Given the description of an element on the screen output the (x, y) to click on. 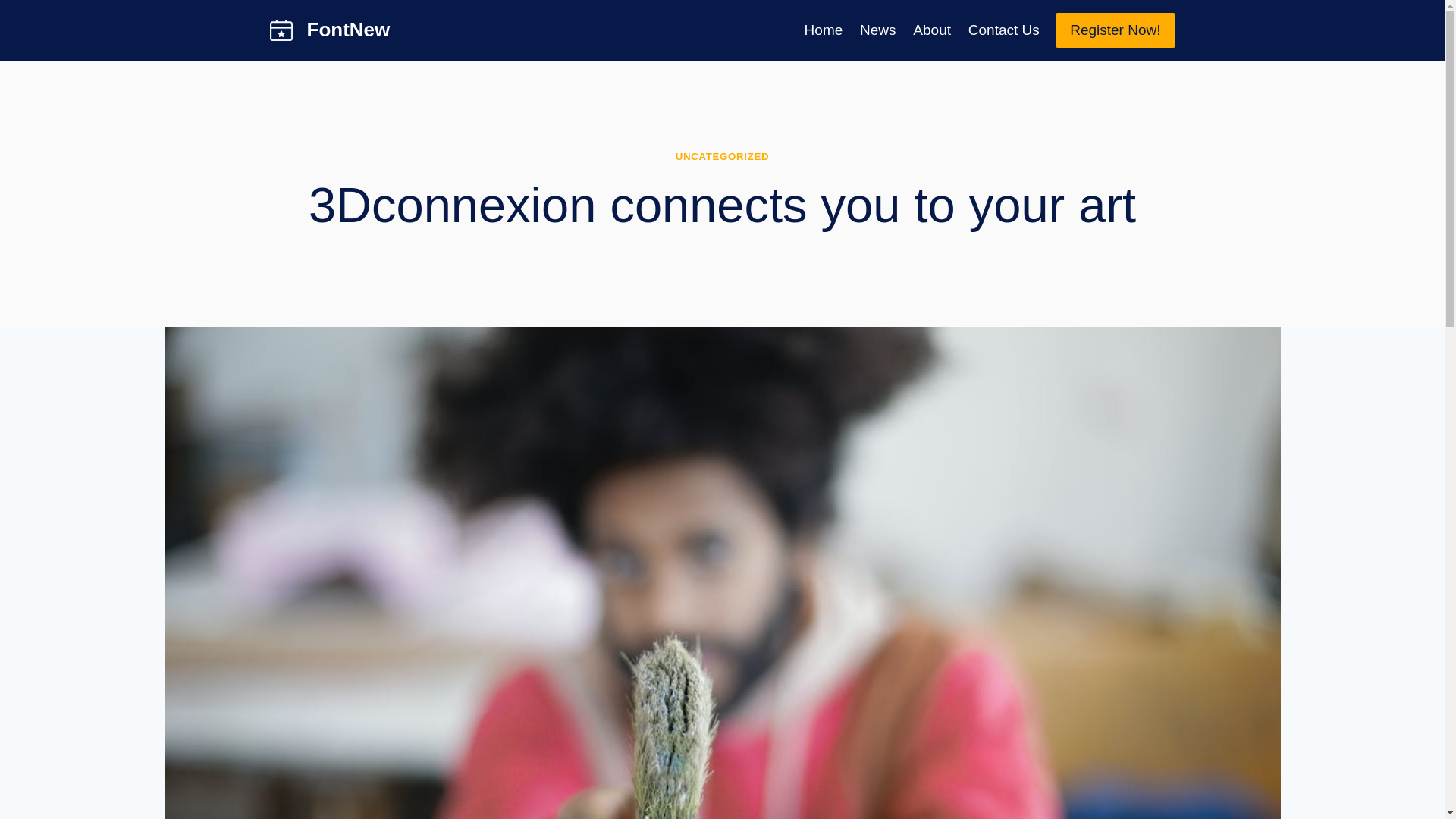
News (877, 29)
Contact Us (1003, 29)
UNCATEGORIZED (722, 156)
Home (822, 29)
Register Now! (1114, 30)
FontNew (329, 29)
About (931, 29)
